Given the description of an element on the screen output the (x, y) to click on. 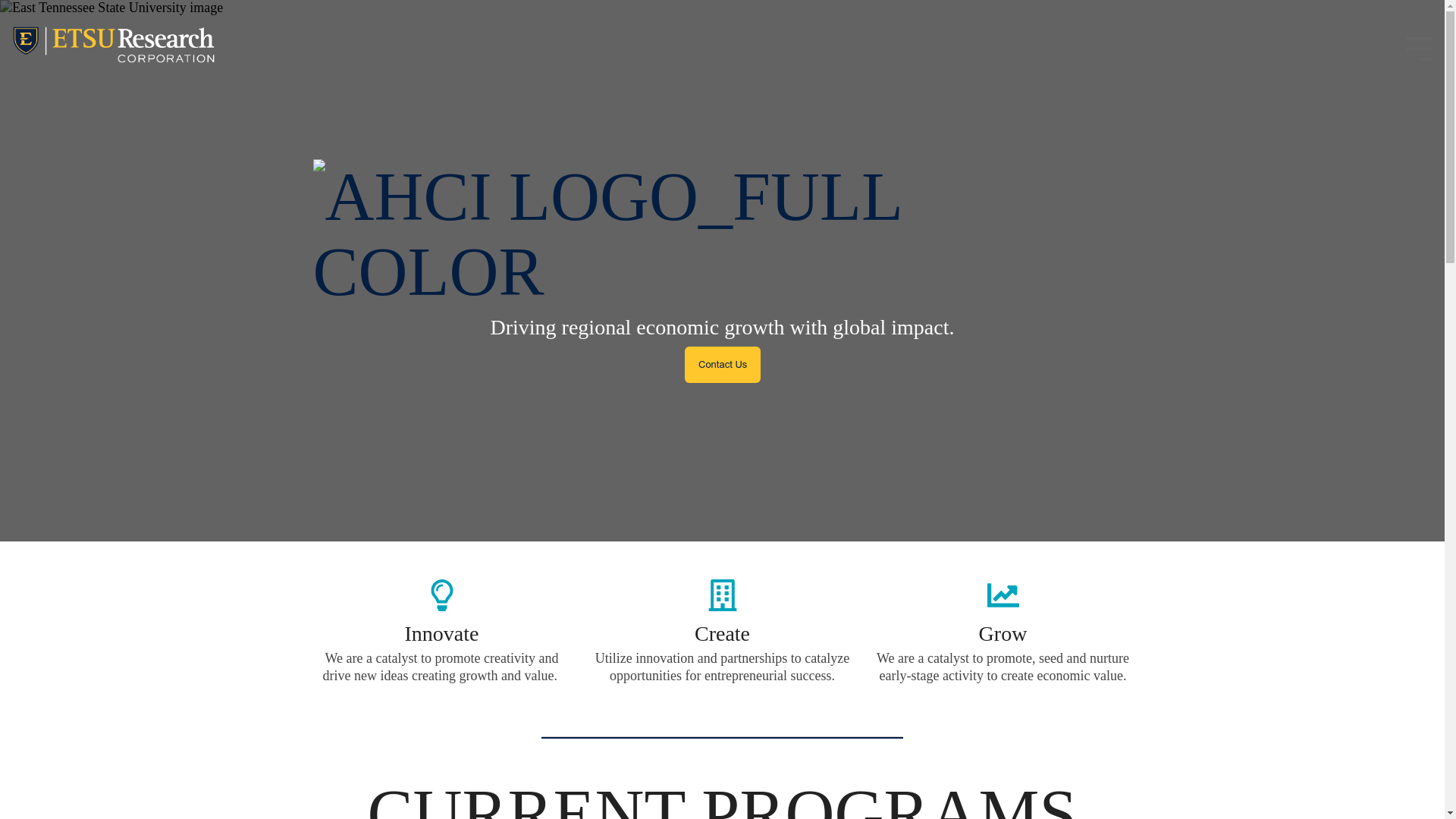
Toggle Menu (1419, 46)
ETSU RC logo horizontal gold-1 (113, 48)
